Given the description of an element on the screen output the (x, y) to click on. 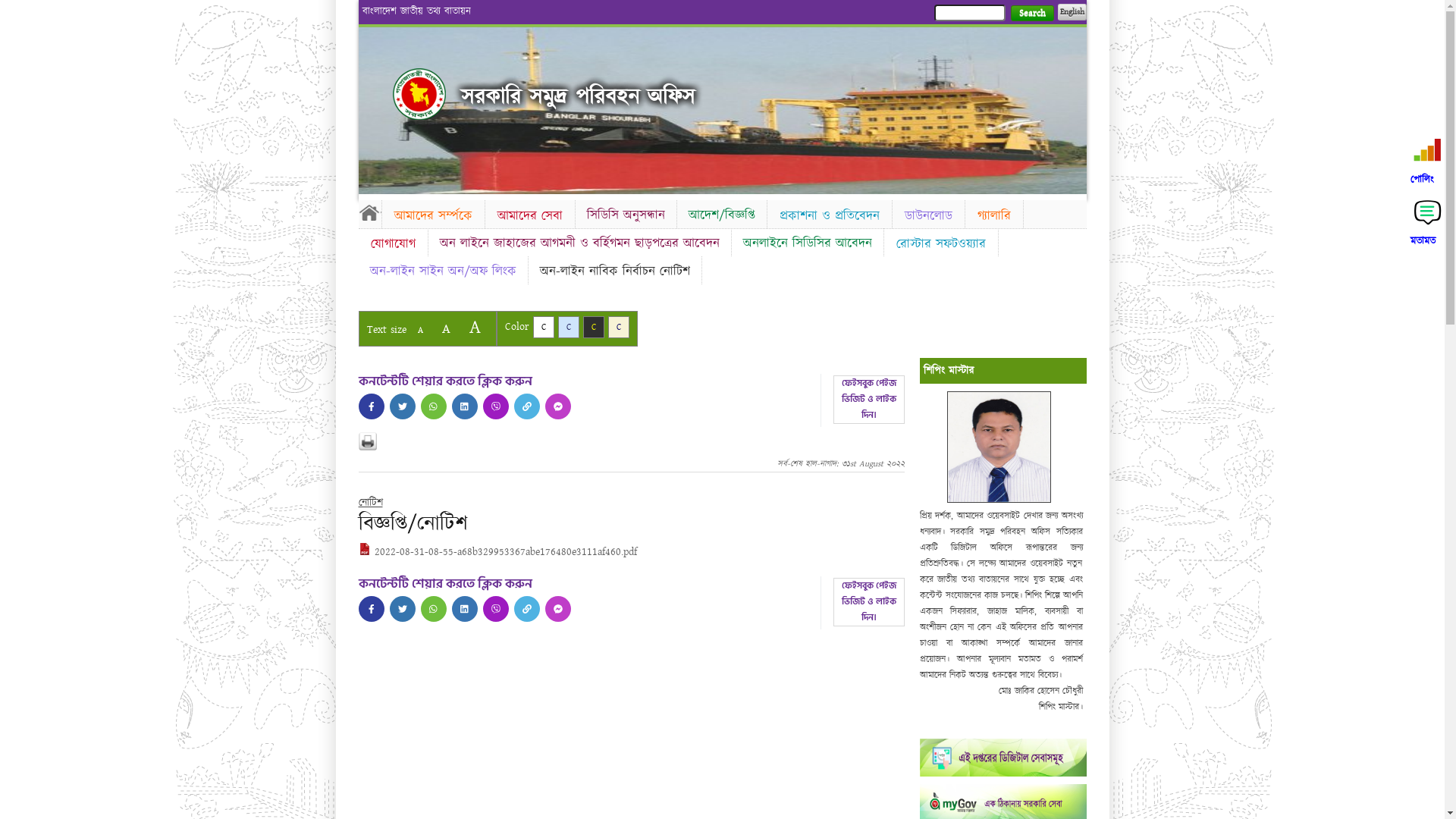
C Element type: text (618, 327)
C Element type: text (568, 327)
C Element type: text (542, 327)
C Element type: text (592, 327)
A Element type: text (474, 327)
Search Element type: text (1031, 13)
2022-08-31-08-55-a68b329953367abe176480e3111af460.pdf Element type: text (496, 551)
Home Element type: hover (418, 93)
Home Element type: hover (368, 211)
A Element type: text (445, 328)
English Element type: text (1071, 11)
A Element type: text (419, 330)
